Given the description of an element on the screen output the (x, y) to click on. 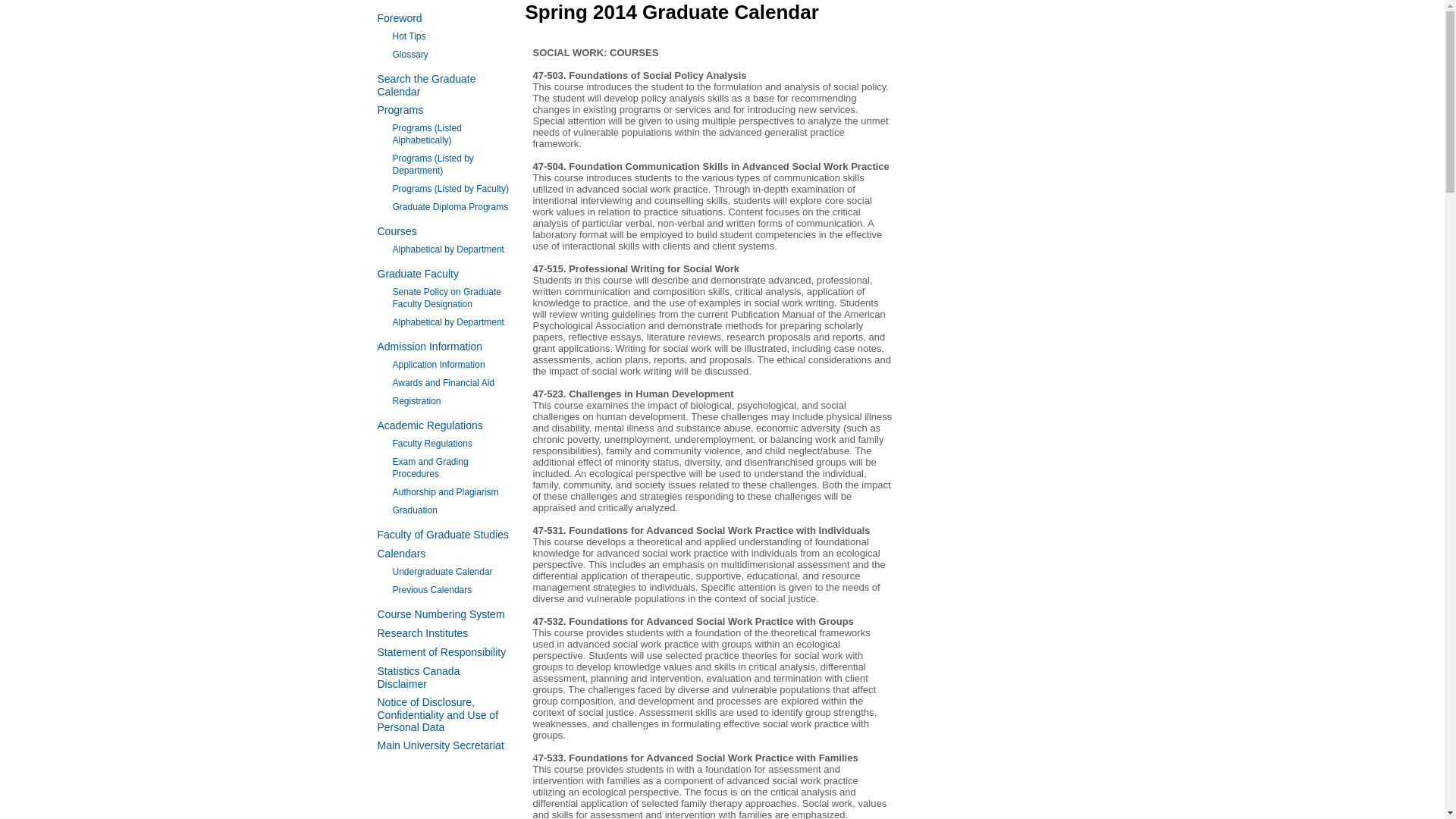
Programs (400, 110)
Search the Graduate Calendar (426, 84)
Courses (396, 231)
Previous Calendars (432, 589)
Calendars (401, 553)
Registration (417, 400)
Exam and Grading Procedures (430, 467)
Application Information (438, 364)
Awards and Financial Aid (444, 382)
Faculty of Graduate Studies (443, 534)
Statistics Canada Disclaimer (418, 677)
Senate Policy on Graduate Faculty Designation (446, 297)
Authorship and Plagiarism (446, 491)
Faculty Regulations (432, 443)
